Given the description of an element on the screen output the (x, y) to click on. 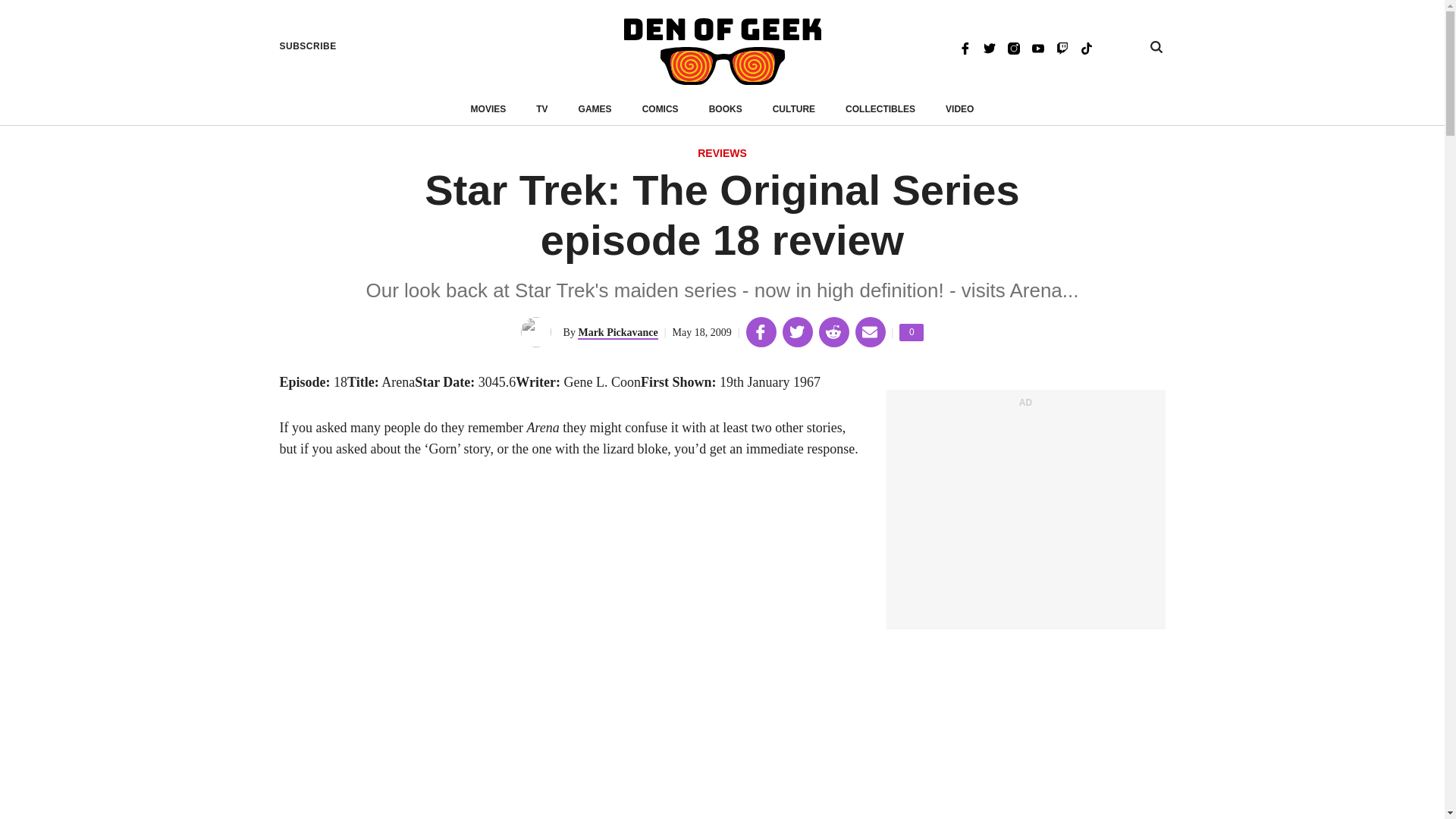
Den of Geek (722, 52)
Instagram (911, 332)
VIDEO (1013, 46)
Mark Pickavance (959, 109)
TikTok (618, 332)
SUBSCRIBE (1085, 46)
GAMES (307, 46)
CULTURE (594, 109)
MOVIES (794, 109)
